Given the description of an element on the screen output the (x, y) to click on. 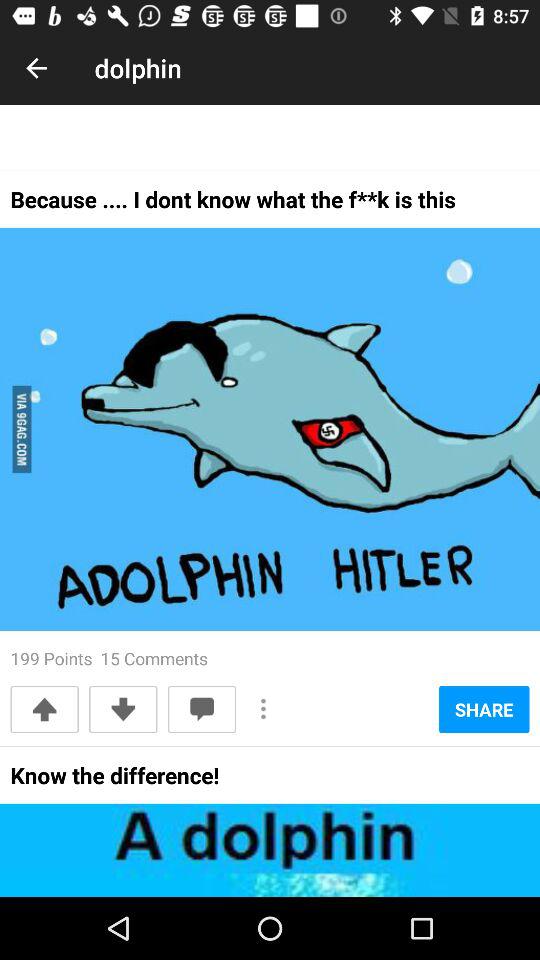
choose the icon to the left of share (263, 708)
